Given the description of an element on the screen output the (x, y) to click on. 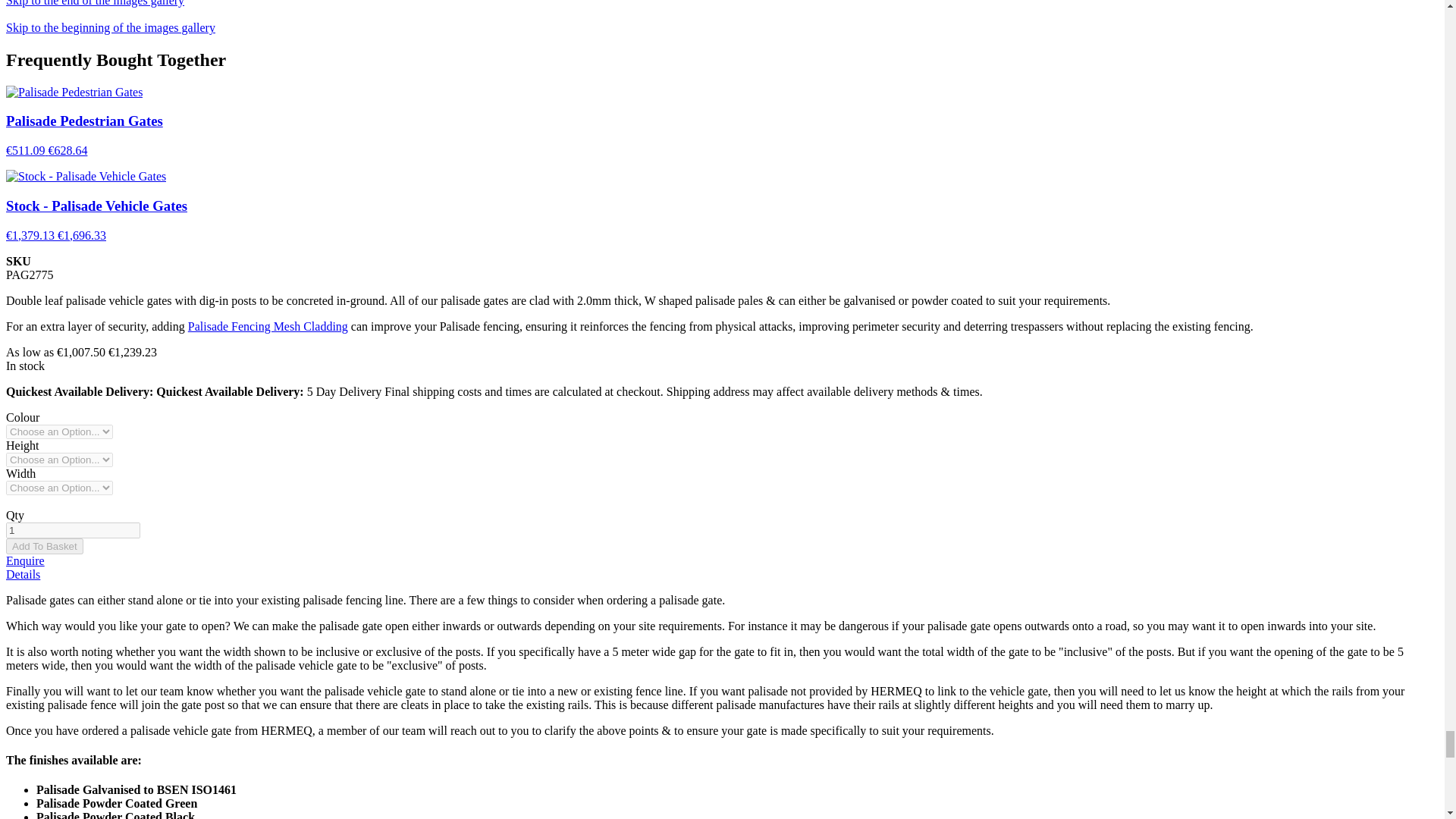
1 (72, 529)
